Given the description of an element on the screen output the (x, y) to click on. 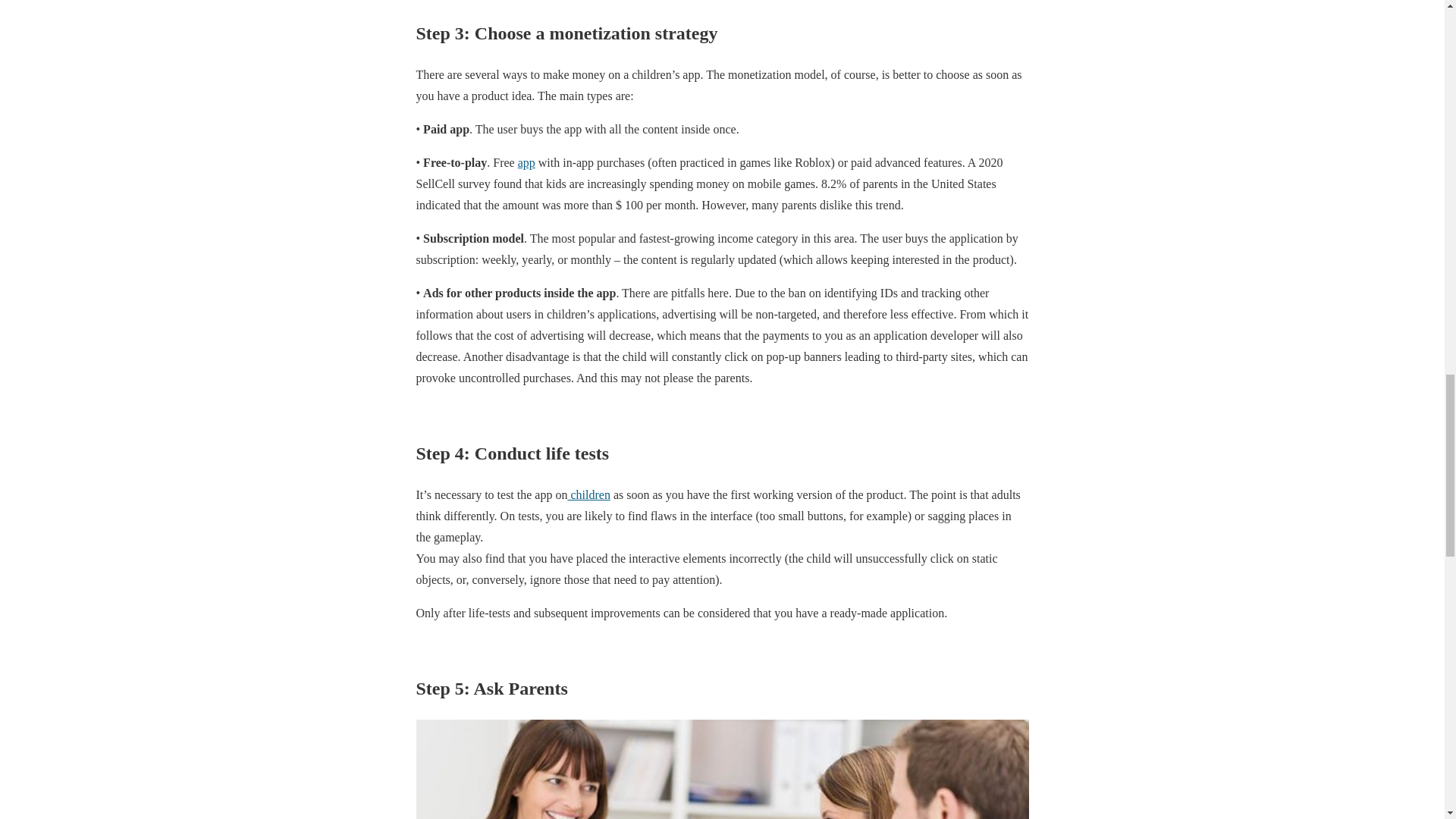
app (526, 162)
children (588, 494)
